Given the description of an element on the screen output the (x, y) to click on. 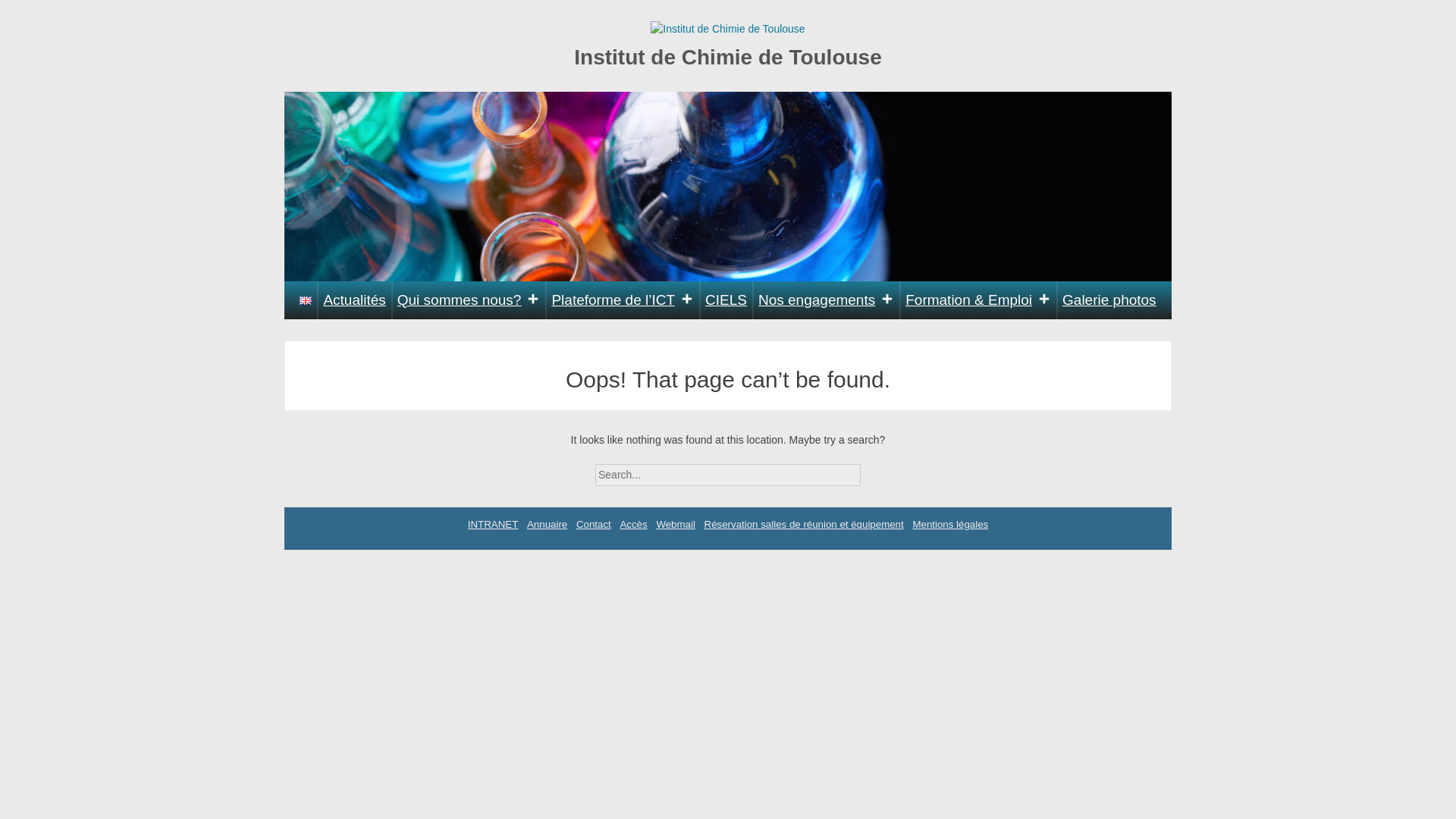
Nos engagements (825, 300)
Institut de Chimie de Toulouse (727, 57)
Search (873, 469)
Qui sommes nous? (468, 300)
Search (873, 469)
CIELS (726, 300)
